Given the description of an element on the screen output the (x, y) to click on. 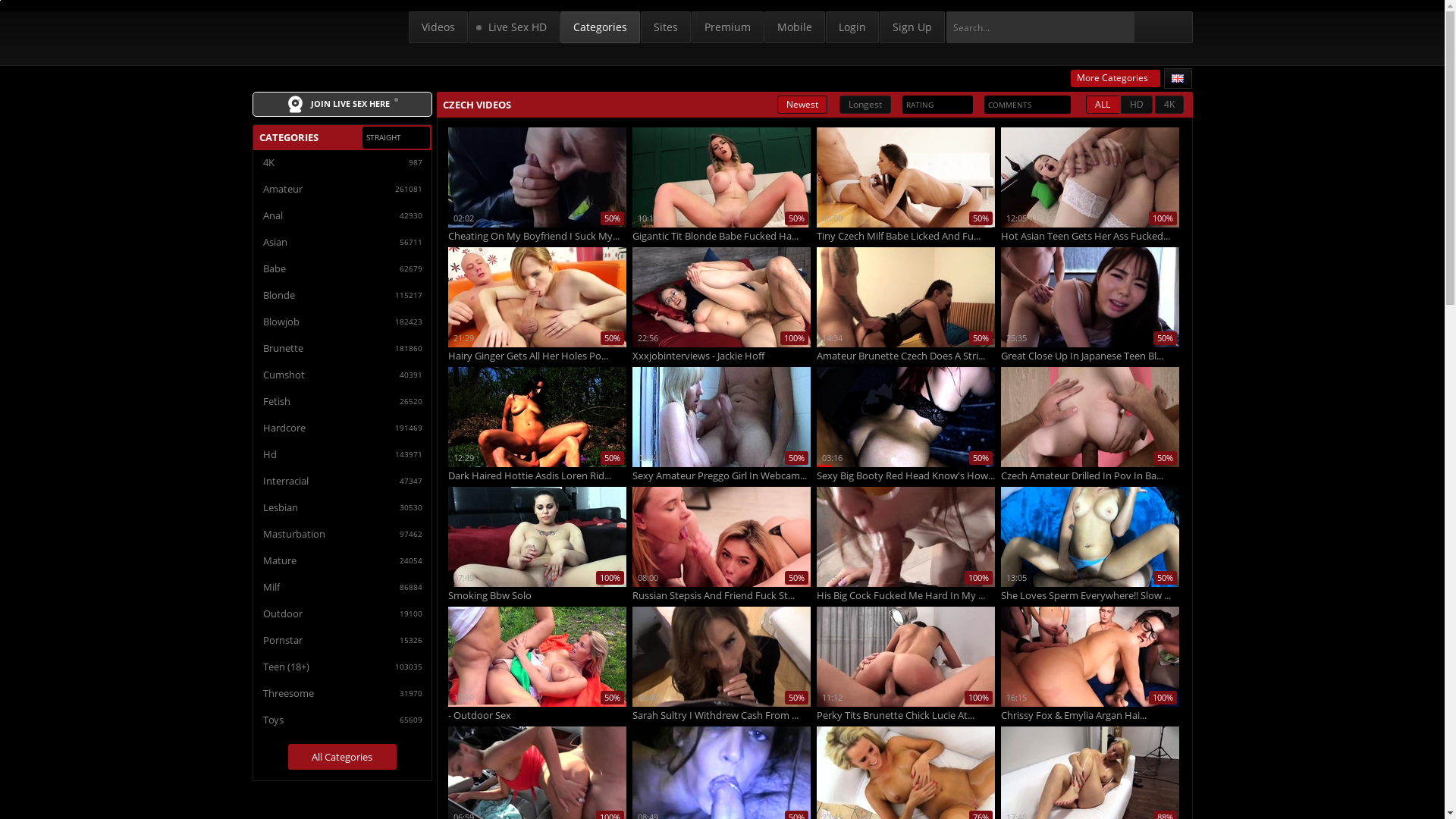
100%
12:05 Element type: text (1090, 177)
Great Close Up In Japanese Teen Bl... Element type: text (1090, 356)
Gigantic Tit Blonde Babe Fucked Ha... Element type: text (721, 236)
50%
05:33 Element type: text (1090, 417)
Hd
143971 Element type: text (341, 453)
50%
10:19 Element type: text (721, 177)
Premium Element type: text (727, 27)
Hardcore
191469 Element type: text (341, 427)
Sexy Amateur Preggo Girl In Webcam... Element type: text (721, 476)
Live Sex HD Element type: text (513, 27)
Videos Element type: text (437, 27)
Cumshot
40391 Element type: text (341, 374)
Lesbian
30530 Element type: text (341, 506)
Hot Asian Teen Gets Her Ass Fucked... Element type: text (1090, 236)
She Loves Sperm Everywhere!! Slow ... Element type: text (1090, 596)
ALL Element type: text (1101, 104)
Fetish
26520 Element type: text (341, 400)
4K
987 Element type: text (341, 161)
4K Element type: text (1168, 104)
50%
08:34 Element type: text (721, 417)
Russian Stepsis And Friend Fuck St... Element type: text (721, 596)
Teen (18+)
103035 Element type: text (341, 666)
Longest Element type: text (864, 104)
Brunette
181860 Element type: text (341, 347)
Sites Element type: text (665, 27)
Anal
42930 Element type: text (341, 214)
50%
02:02 Element type: text (536, 177)
Smoking Bbw Solo Element type: text (536, 596)
50%
08:00 Element type: text (721, 536)
50%
13:05 Element type: text (1090, 536)
Mobile Element type: text (794, 27)
Masturbation
97462 Element type: text (341, 533)
100%
22:56 Element type: text (721, 297)
100%
07:49 Element type: text (536, 536)
50%
25:35 Element type: text (1090, 297)
All Categories Element type: text (342, 756)
Search Element type: text (1170, 27)
Newest Element type: text (801, 104)
50%
10:10 Element type: text (536, 656)
50%
21:29 Element type: text (536, 297)
English Element type: hover (1177, 78)
Chrissy Fox & Emylia Argan Hai... Element type: text (1090, 716)
50%
18:40 Element type: text (721, 656)
Dark Haired Hottie Asdis Loren Rid... Element type: text (536, 476)
More Categories Element type: text (1115, 78)
Cheating On My Boyfriend I Suck My... Element type: text (536, 236)
Xxxjobinterviews - Jackie Hoff Element type: text (721, 356)
100%
16:15 Element type: text (1090, 656)
50%
12:29 Element type: text (536, 417)
Pornstar
15326 Element type: text (341, 639)
50%
03:16 Element type: text (904, 417)
proporn Element type: text (316, 30)
Czech Amateur Drilled In Pov In Ba... Element type: text (1090, 476)
HD Element type: text (1136, 104)
Blonde
115217 Element type: text (341, 294)
Interracial
47347 Element type: text (341, 480)
Perky Tits Brunette Chick Lucie At... Element type: text (904, 716)
Sign Up Element type: text (911, 27)
Toys
65609 Element type: text (341, 719)
Tiny Czech Milf Babe Licked And Fu... Element type: text (904, 236)
Amateur
261081 Element type: text (341, 188)
50%
14:34 Element type: text (904, 297)
Milf
86884 Element type: text (341, 586)
Amateur Brunette Czech Does A Stri... Element type: text (904, 356)
Blowjob
182423 Element type: text (341, 321)
100%
11:12 Element type: text (904, 656)
50%
06:00 Element type: text (904, 177)
Hairy Ginger Gets All Her Holes Po... Element type: text (536, 356)
Sexy Big Booty Red Head Know's How... Element type: text (904, 476)
Categories Element type: text (599, 27)
JOIN LIVE SEX HERE Element type: text (341, 103)
His Big Cock Fucked Me Hard In My ... Element type: text (904, 596)
Mature
24054 Element type: text (341, 560)
Outdoor
19100 Element type: text (341, 613)
Login Element type: text (851, 27)
Sarah Sultry I Withdrew Cash From ... Element type: text (721, 716)
100%
05:54 Element type: text (904, 536)
- Outdoor Sex Element type: text (536, 716)
Babe
62679 Element type: text (341, 268)
Asian
56711 Element type: text (341, 241)
Threesome
31970 Element type: text (341, 692)
